Given the description of an element on the screen output the (x, y) to click on. 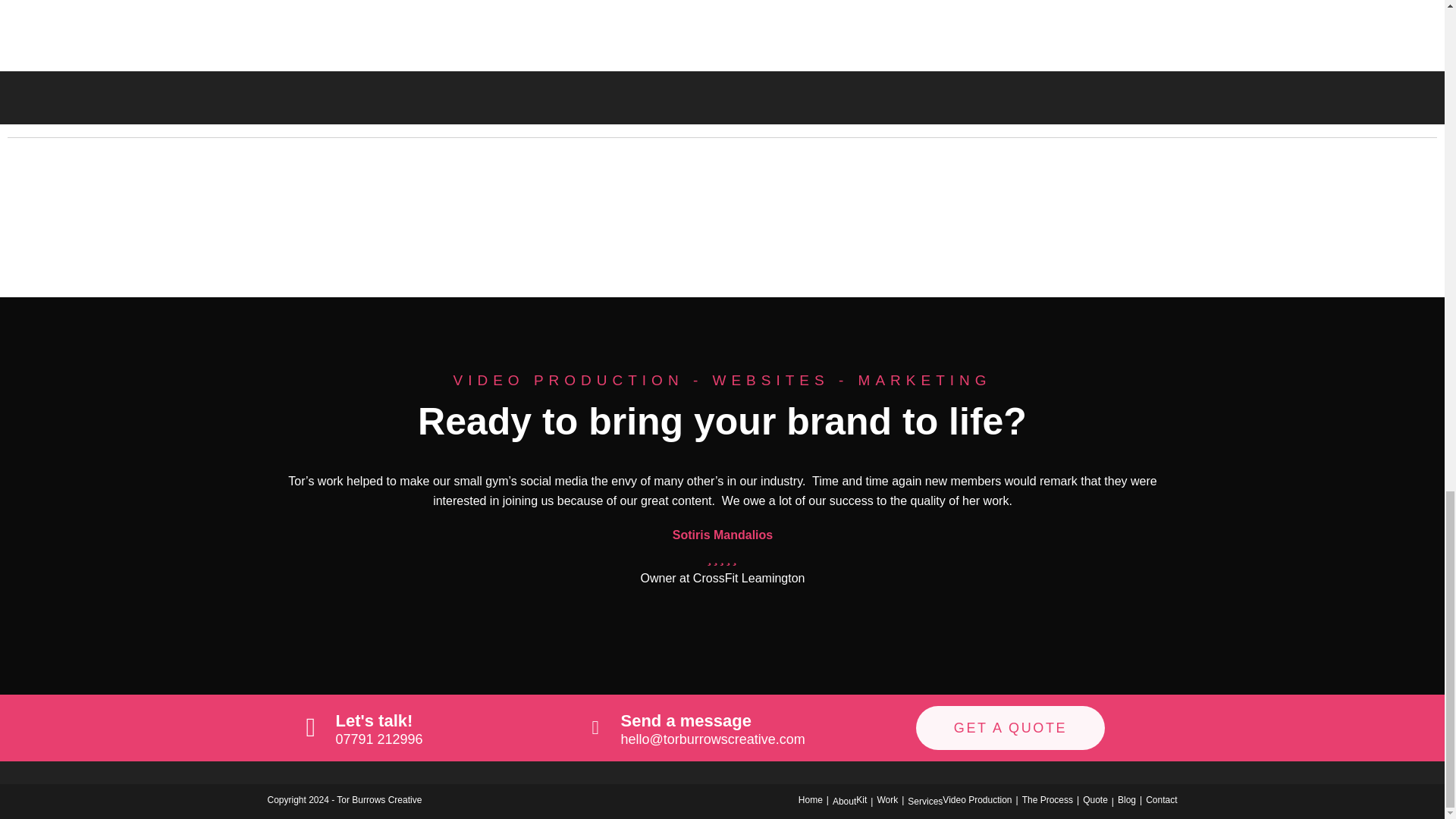
Blog (1126, 799)
Services (924, 801)
crossfit leamington logo (273, 221)
Contact (1160, 799)
07791 212996 (378, 739)
The Process (1047, 799)
Kit (861, 799)
Video Production (976, 799)
Work (887, 799)
Home (809, 799)
